Given the description of an element on the screen output the (x, y) to click on. 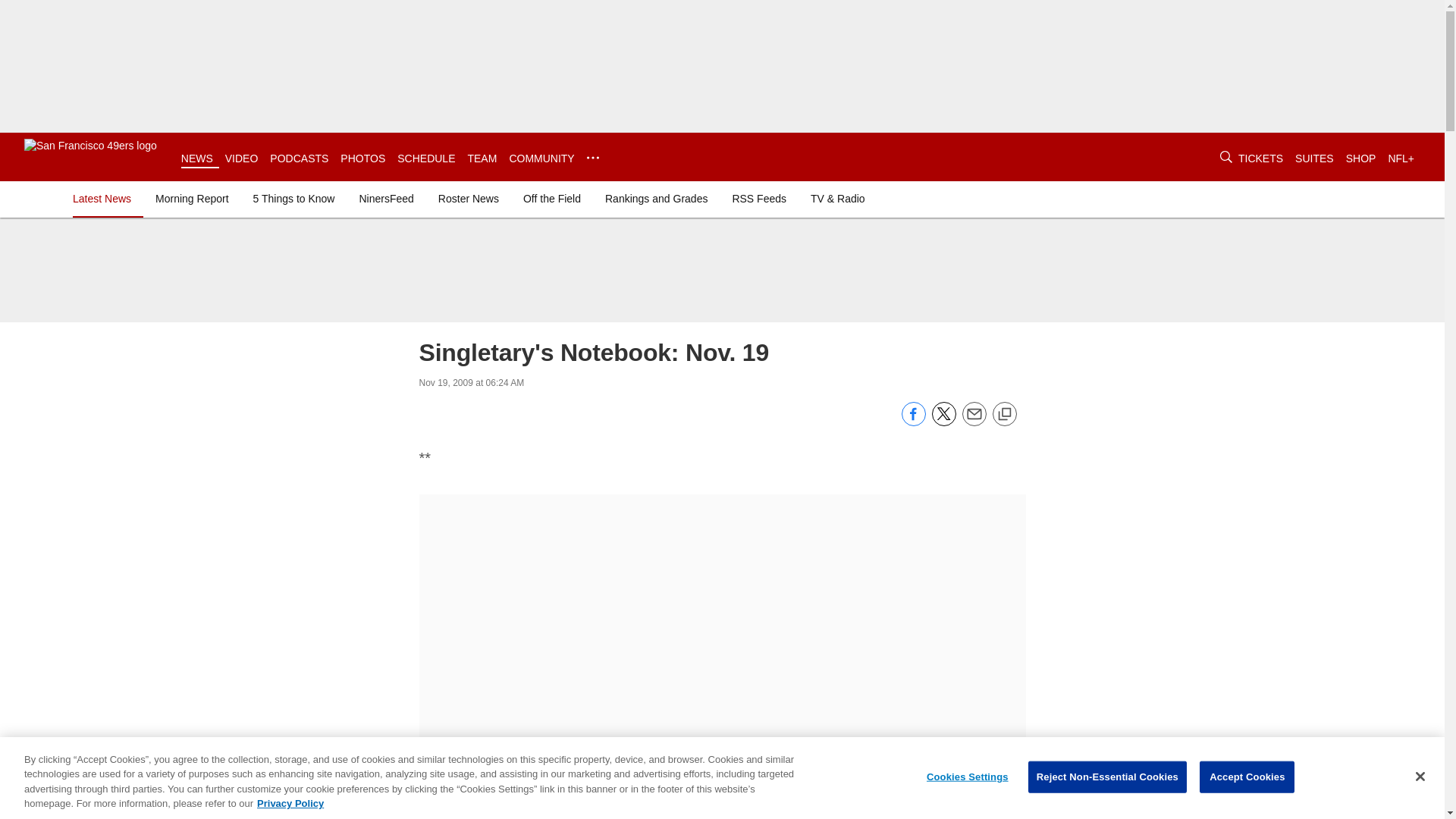
COMMUNITY (540, 158)
SUITES (1314, 158)
5 Things to Know (293, 198)
Rankings and Grades (655, 198)
TEAM (481, 158)
NinersFeed (385, 198)
Link to club's homepage (90, 156)
RSS Feeds (758, 198)
Off the Field (551, 198)
SHOP (1360, 158)
